Given the description of an element on the screen output the (x, y) to click on. 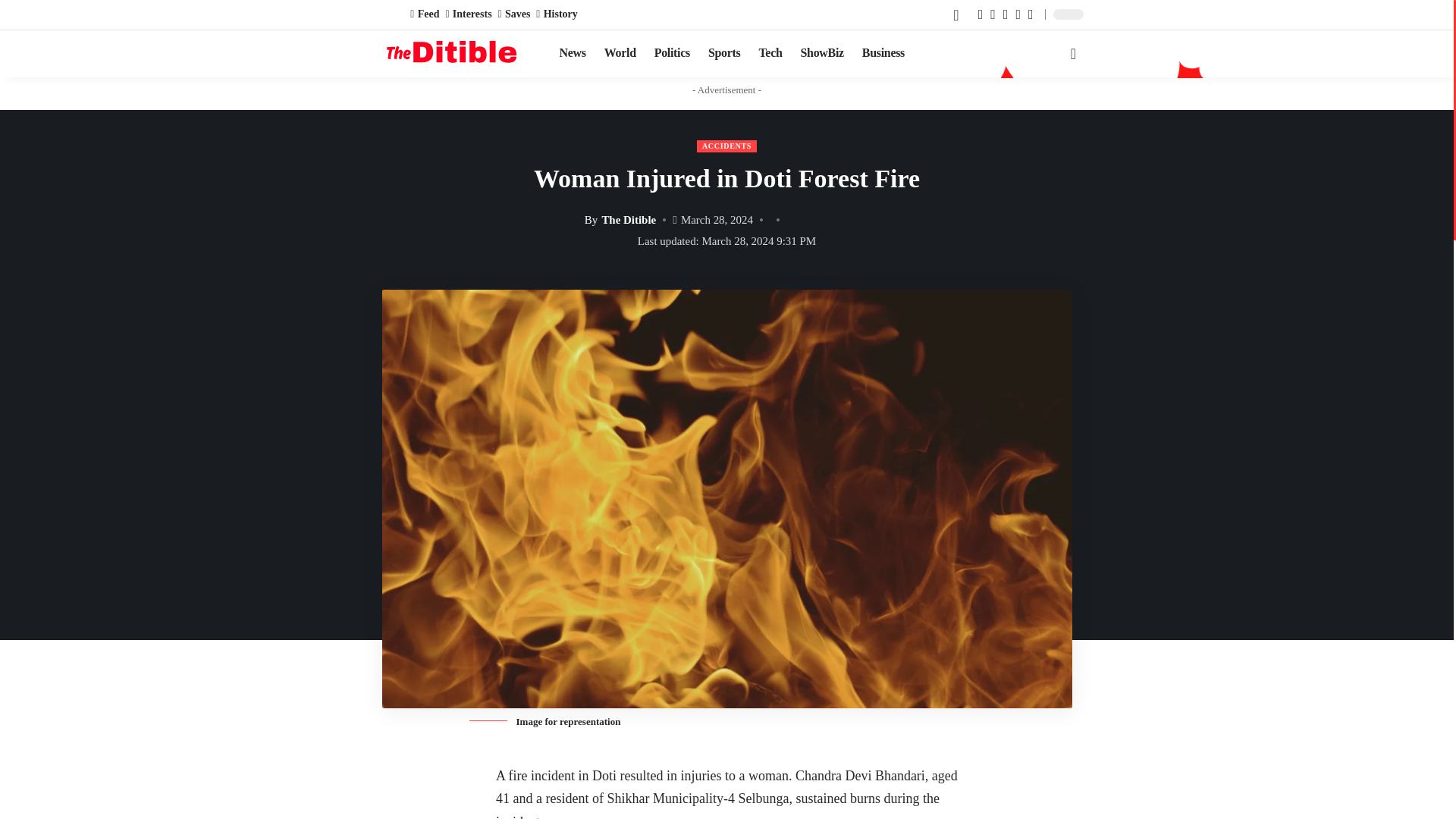
World (620, 53)
News (572, 53)
History (555, 13)
ShowBiz (822, 53)
Saves (514, 13)
Business (883, 53)
Politics (671, 53)
Interests (468, 13)
Tech (769, 53)
